Given the description of an element on the screen output the (x, y) to click on. 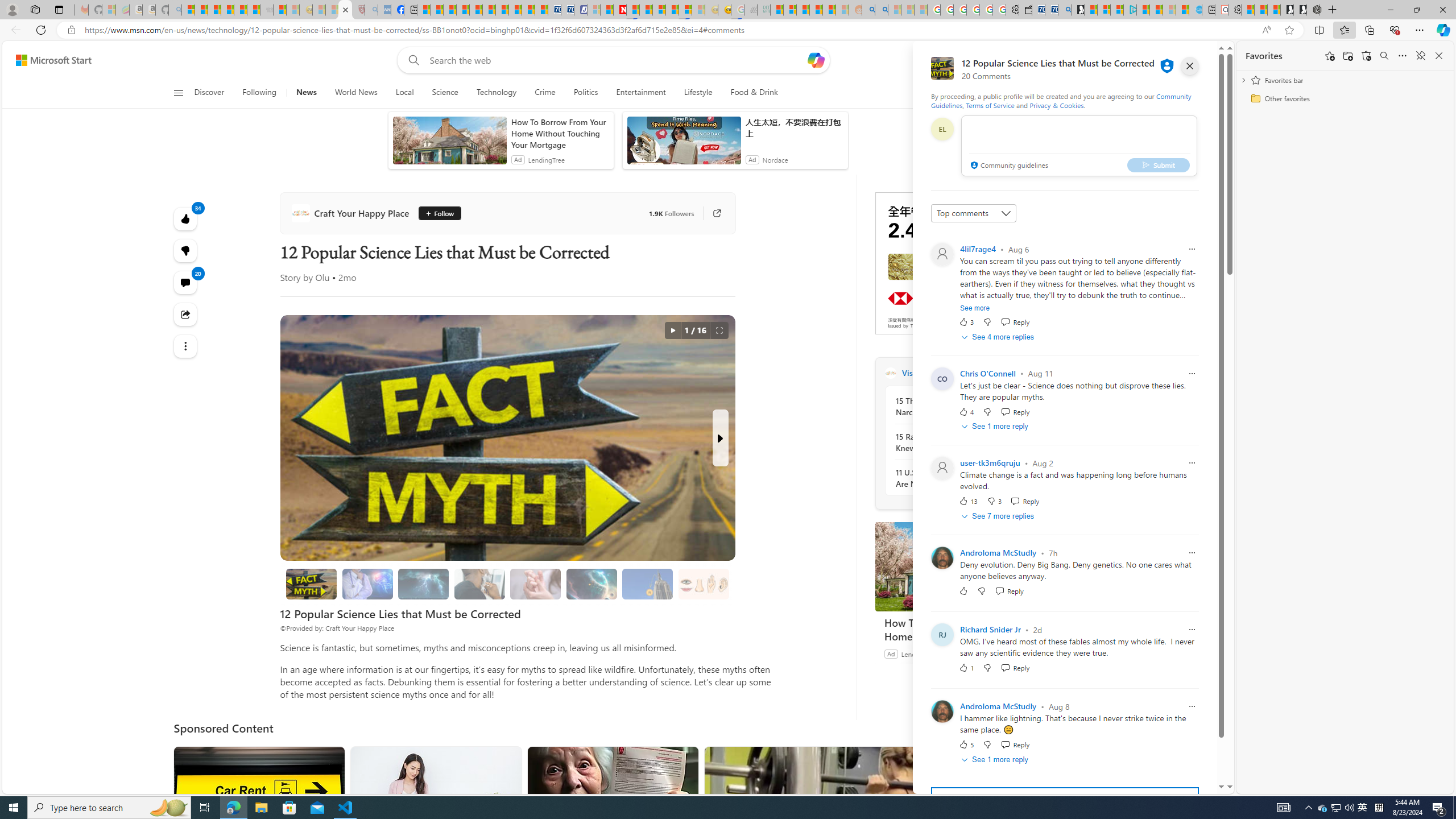
autorotate button (672, 330)
Student Loan Update: Forgiveness Program Ends This Month (829, 9)
Add this page to favorites (1330, 55)
Like (962, 590)
Terminal Velocity of Falling Objects (646, 583)
